Given the description of an element on the screen output the (x, y) to click on. 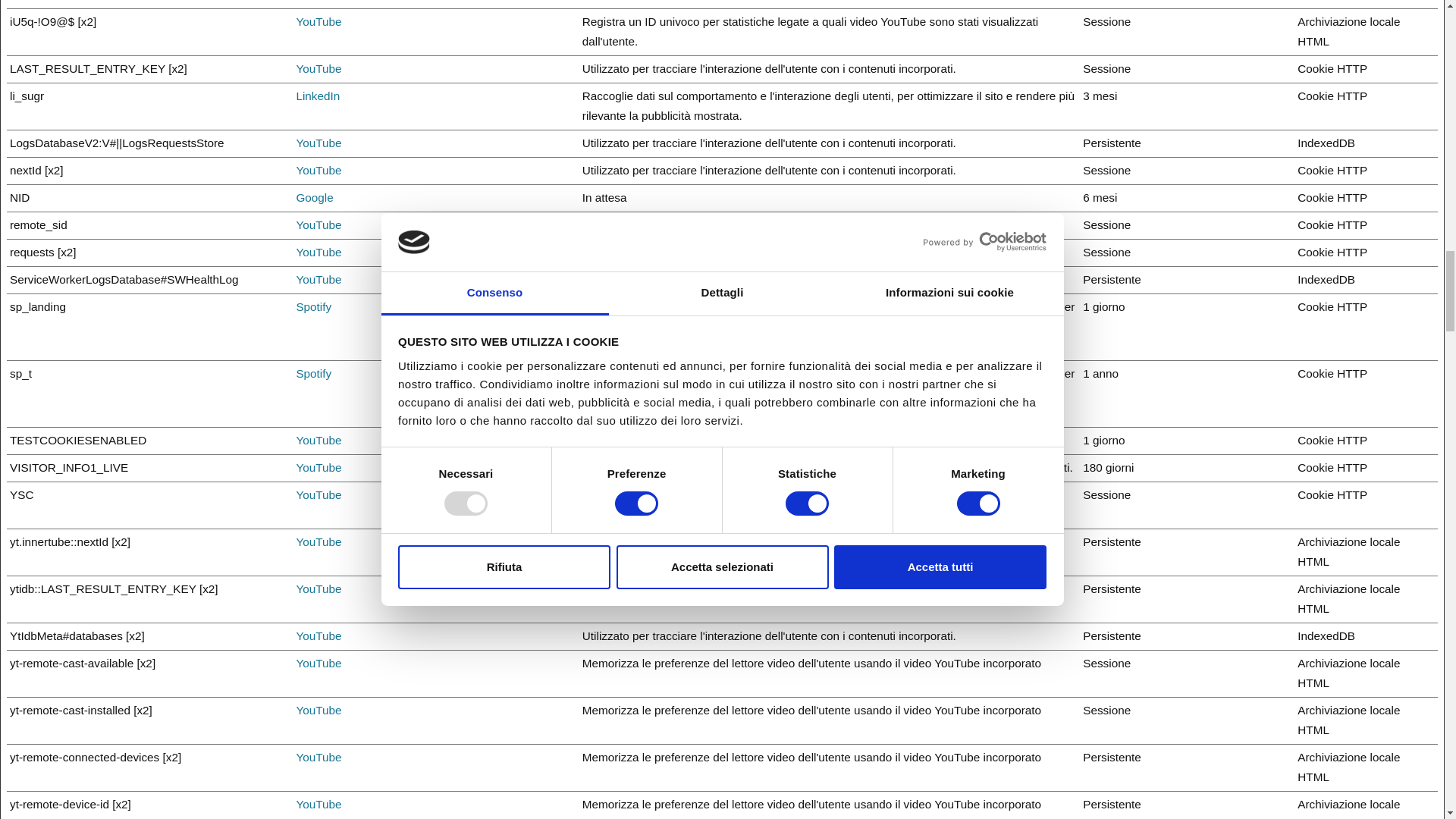
YouTube (317, 494)
Spotify (313, 373)
YouTube (317, 224)
Spotify (313, 306)
YouTube (317, 142)
YouTube (317, 169)
YouTube (317, 588)
YouTube (317, 541)
YouTube (317, 21)
YouTube (317, 467)
